Given the description of an element on the screen output the (x, y) to click on. 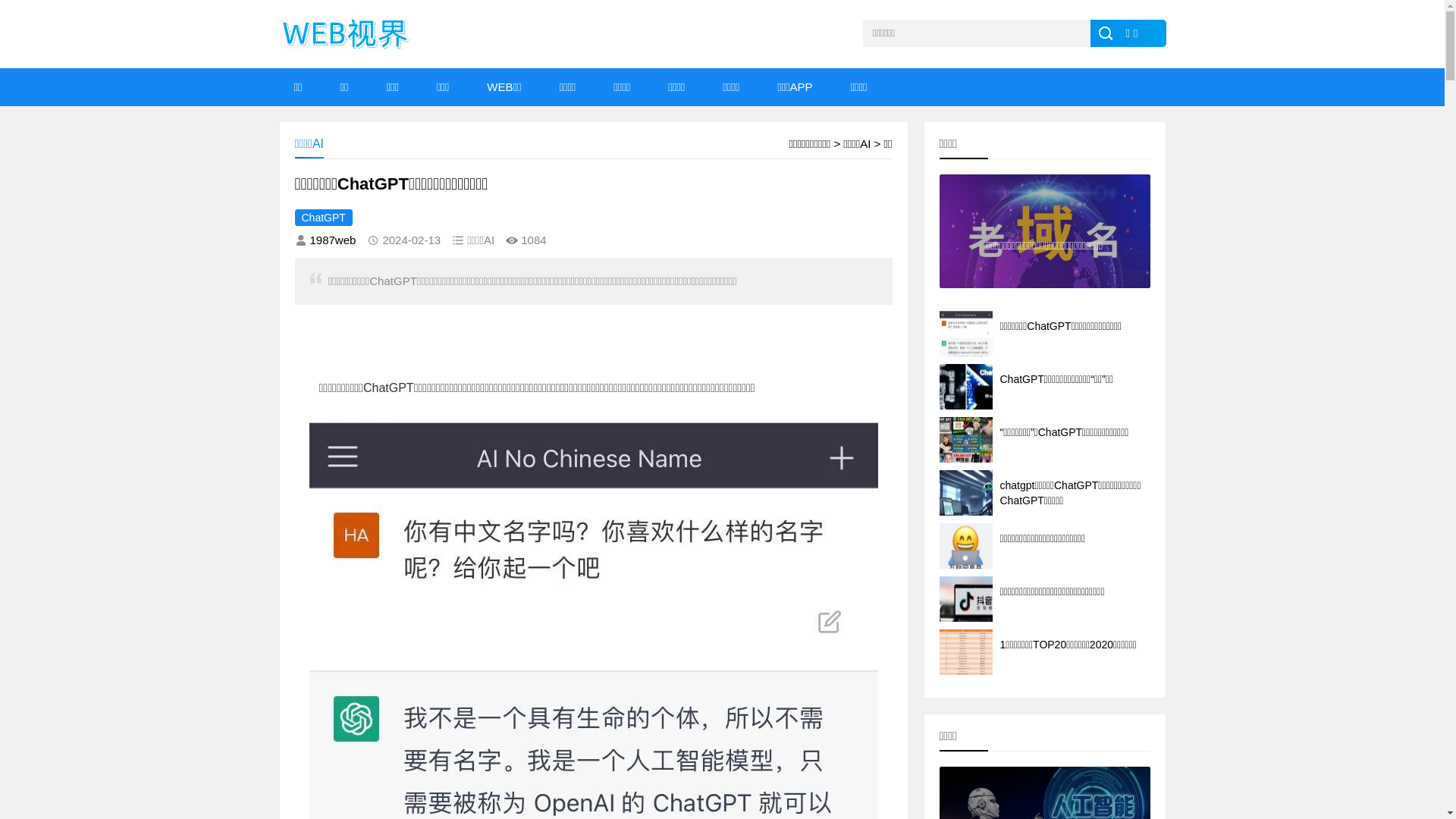
ChatGPT Element type: text (322, 217)
1987web Element type: text (332, 239)
Advertisement Element type: hover (529, 346)
